Given the description of an element on the screen output the (x, y) to click on. 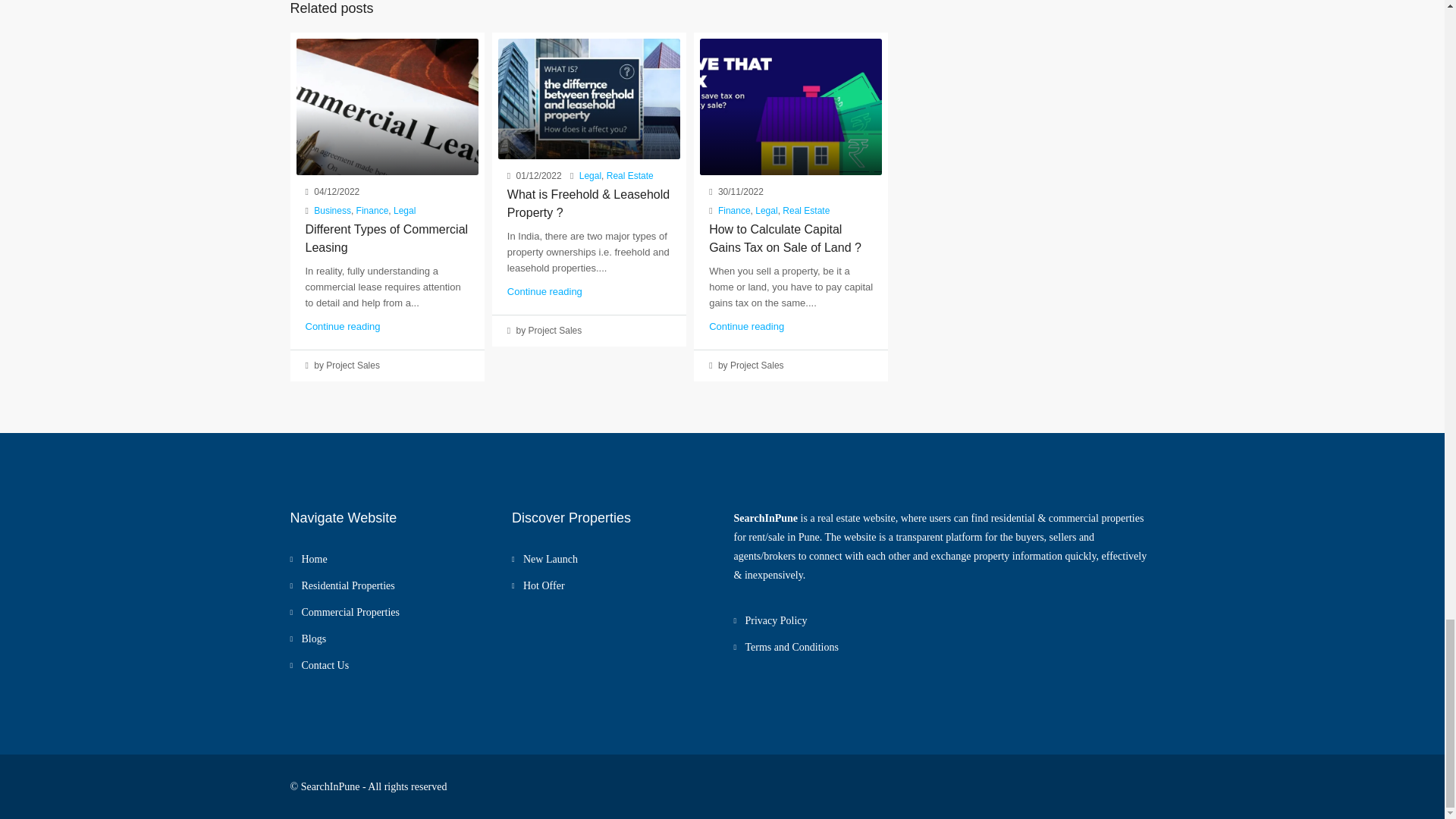
Legal (403, 210)
Finance (372, 210)
Business (332, 210)
Different Types of Commercial Leasing (385, 237)
